Given the description of an element on the screen output the (x, y) to click on. 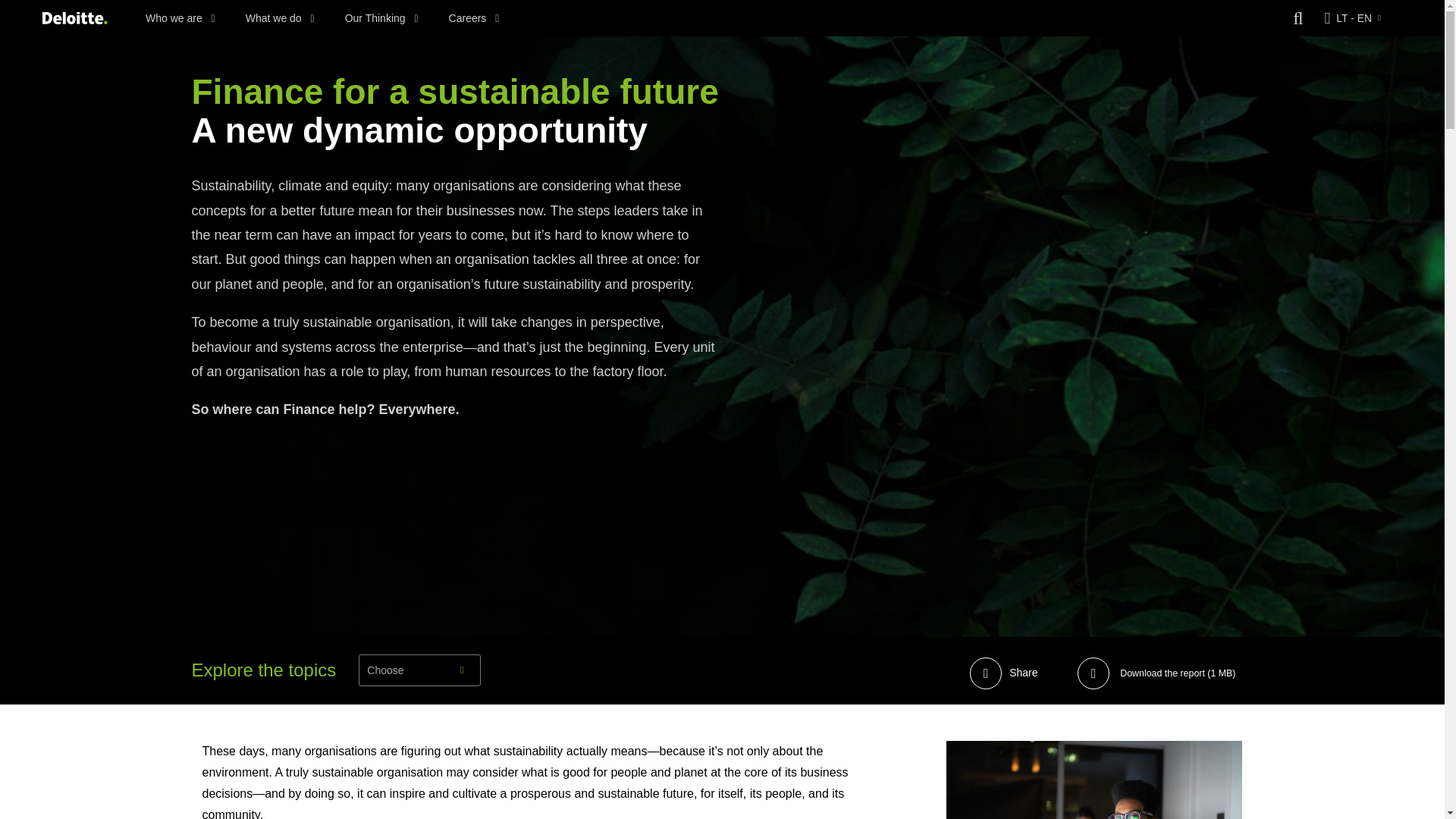
Careers (473, 18)
What we do (280, 18)
Deloitte (74, 18)
Our Thinking (382, 18)
Who we are (180, 18)
